Given the description of an element on the screen output the (x, y) to click on. 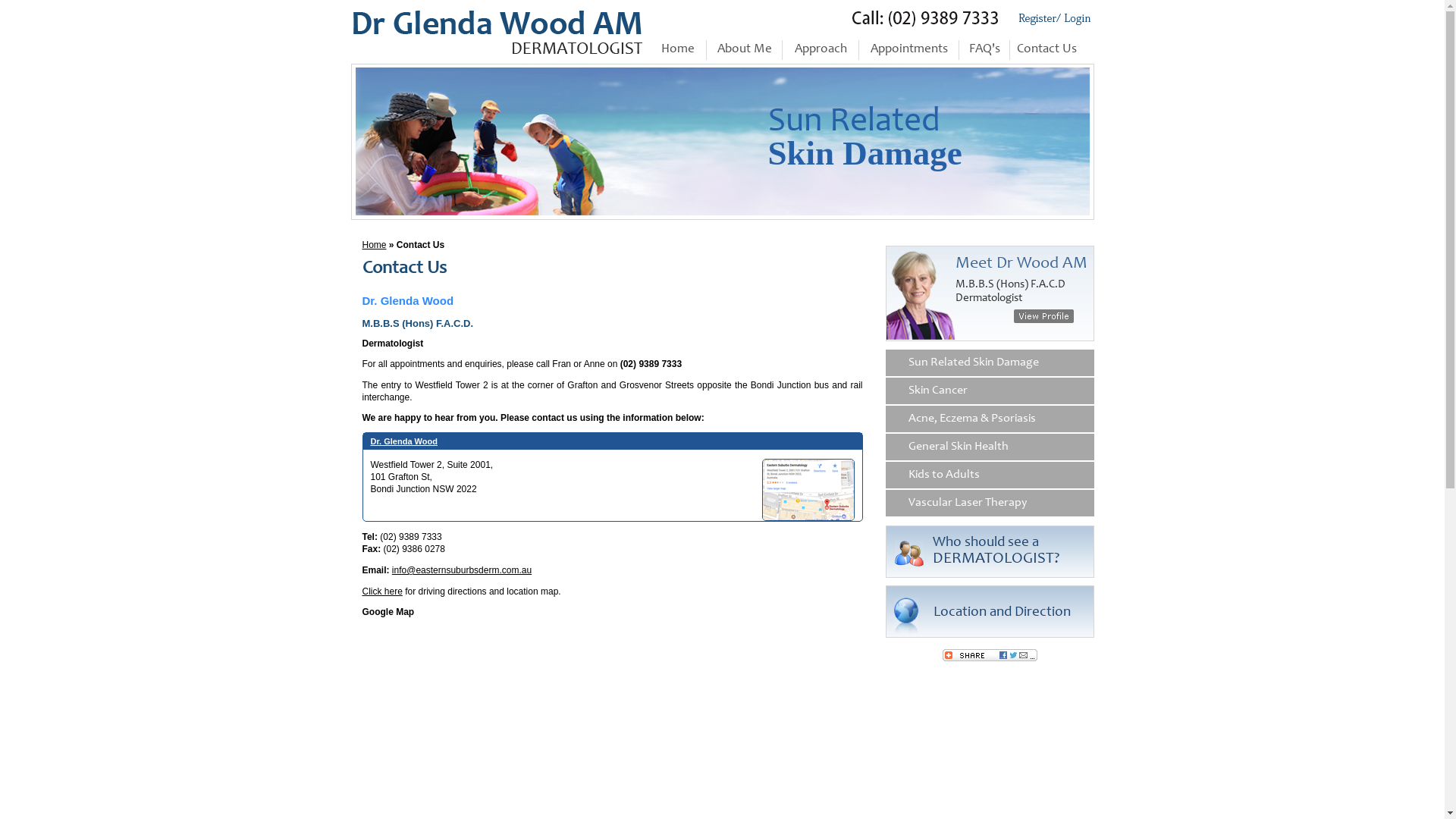
FAQ's Element type: text (983, 49)
Appointments Element type: text (908, 49)
Skin Cancer Element type: text (989, 390)
Home Element type: text (374, 244)
General Skin Health Element type: text (989, 447)
Approach Element type: text (820, 49)
Home Element type: text (677, 49)
About Me Element type: text (744, 49)
Acne, Eczema & Psoriasis Element type: text (989, 419)
Dr. Glenda Wood Element type: text (403, 440)
Kids to Adults Element type: text (989, 475)
Vascular Laser Therapy Element type: text (989, 503)
Location and Direction Element type: text (1001, 612)
Who should see a
DERMATOLOGIST? Element type: text (995, 550)
Contact Us Element type: text (1047, 49)
Click here Element type: text (382, 591)
info@easternsuburbsderm.com.au Element type: text (461, 569)
Sun Related Skin Damage Element type: text (989, 362)
